Given the description of an element on the screen output the (x, y) to click on. 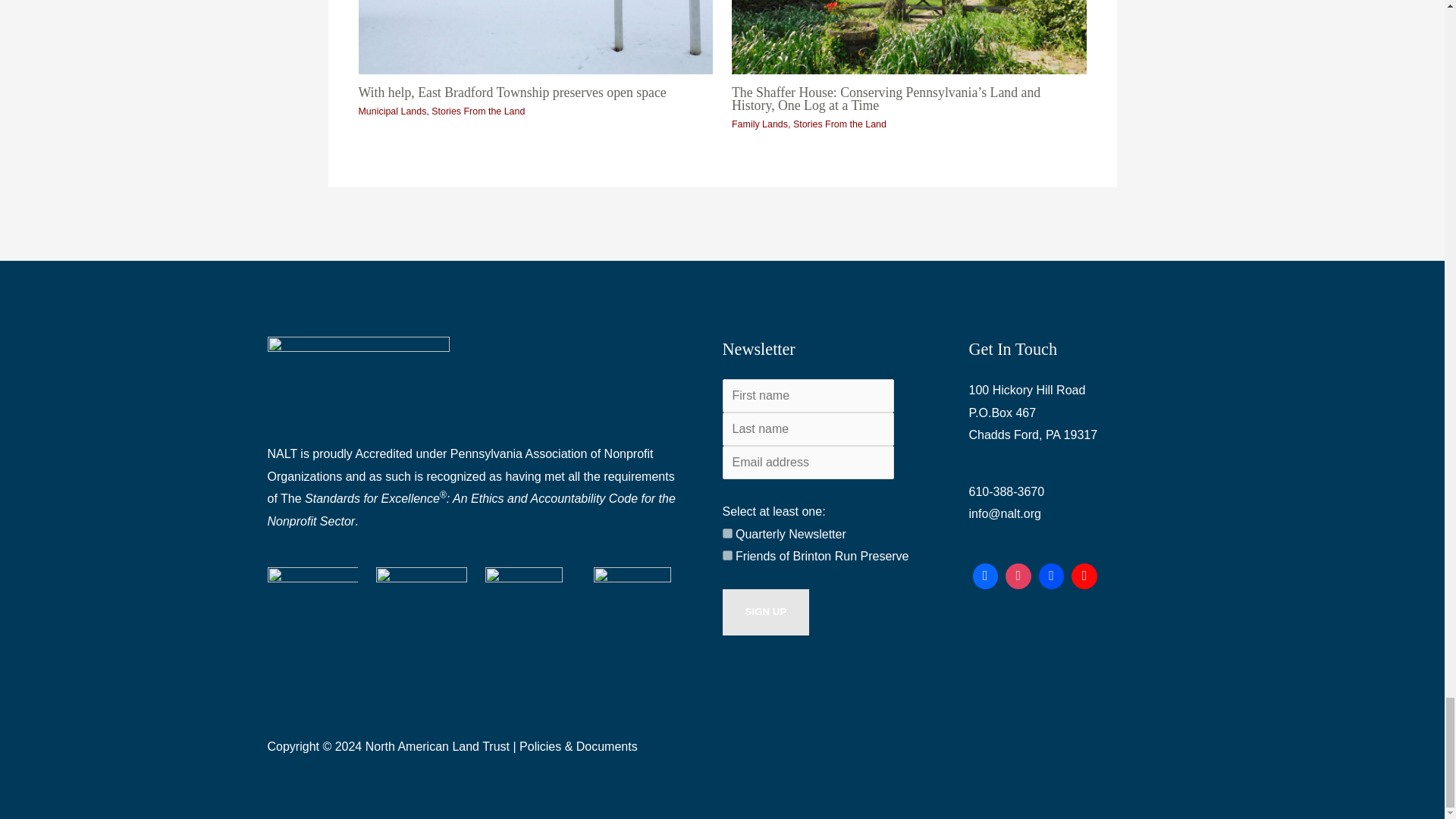
Page 1 (1073, 412)
Page 1 (475, 488)
7d4b2e76ae (727, 533)
Linkedin (1051, 575)
93214f8a2a (727, 555)
Youtube (1083, 575)
Instagram (1018, 575)
Sign up (765, 611)
Facebook (986, 575)
